Given the description of an element on the screen output the (x, y) to click on. 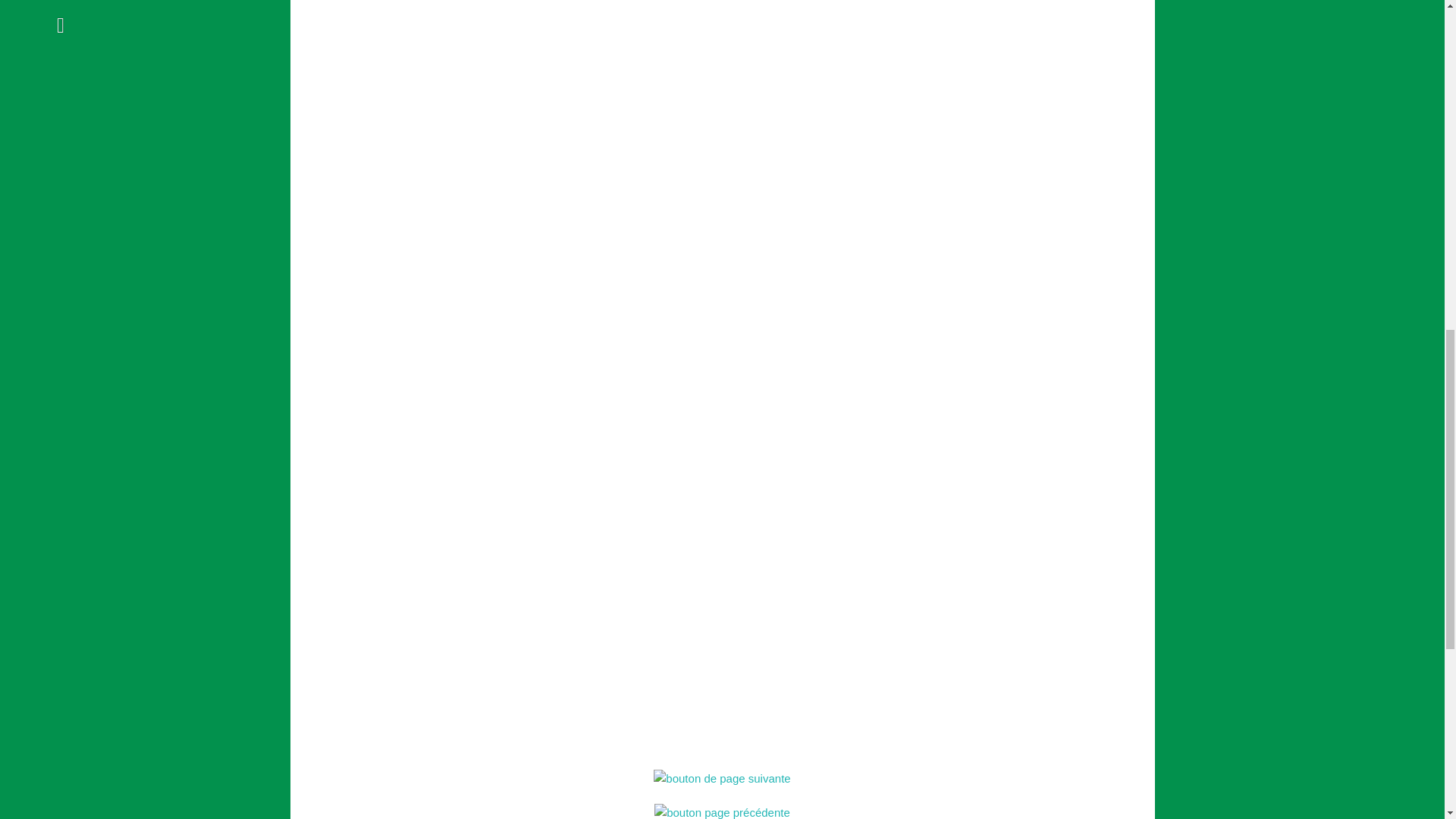
page-precedente (721, 811)
page-suivante (721, 778)
